Given the description of an element on the screen output the (x, y) to click on. 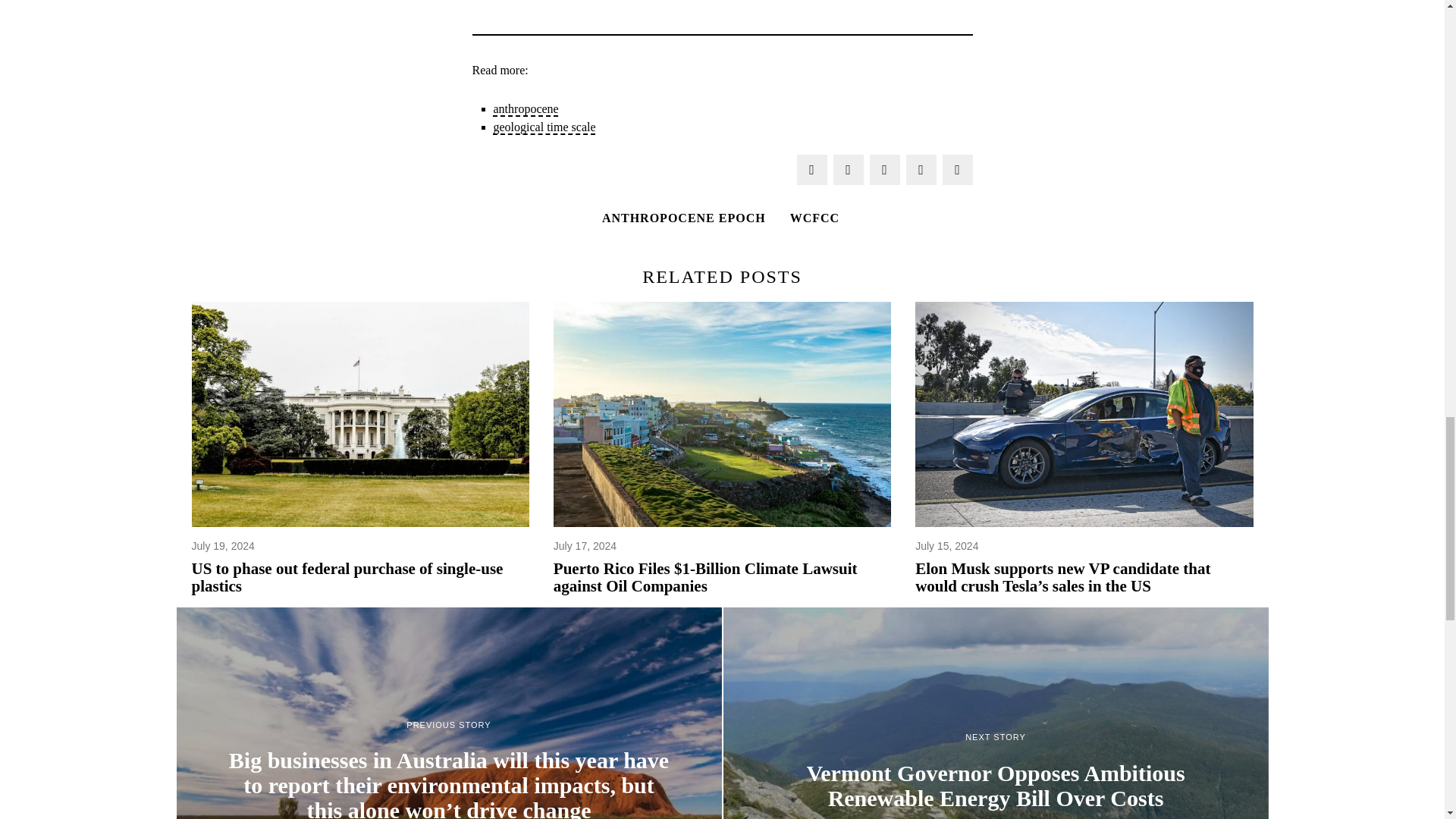
15 Jul, 2024 20:57:31 (946, 546)
17 Jul, 2024 19:00:15 (584, 546)
19 Jul, 2024 20:09:46 (221, 546)
